Given the description of an element on the screen output the (x, y) to click on. 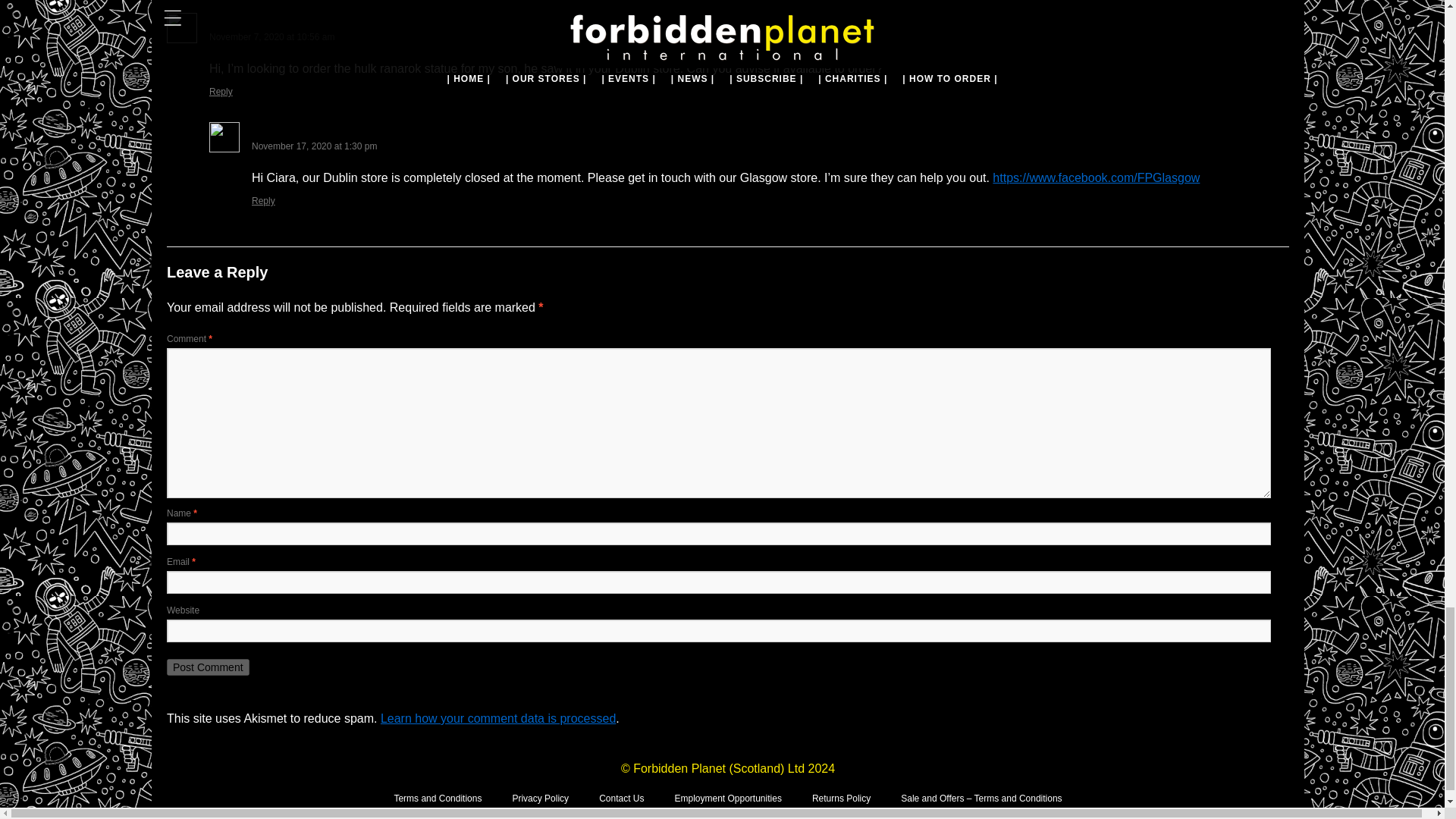
Post Comment (207, 667)
Reply (263, 200)
Contact Us (620, 798)
Employment Opportunities (727, 798)
Post Comment (207, 667)
November 17, 2020 at 1:30 pm (314, 145)
Learn how your comment data is processed (497, 717)
Reply (220, 91)
Privacy Policy (540, 798)
Terms and Conditions (437, 798)
